Given the description of an element on the screen output the (x, y) to click on. 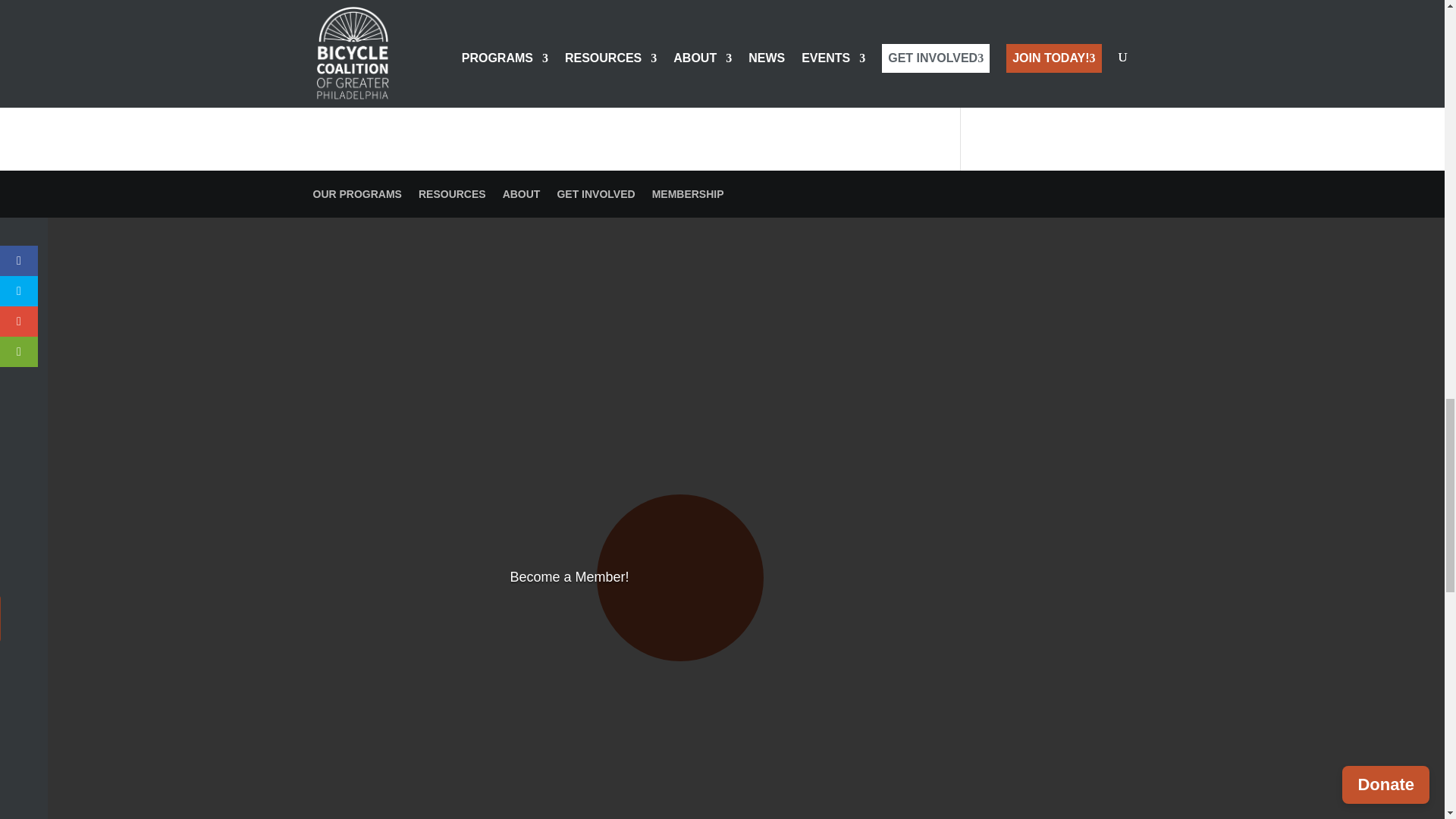
Submit Comment (840, 18)
